Given the description of an element on the screen output the (x, y) to click on. 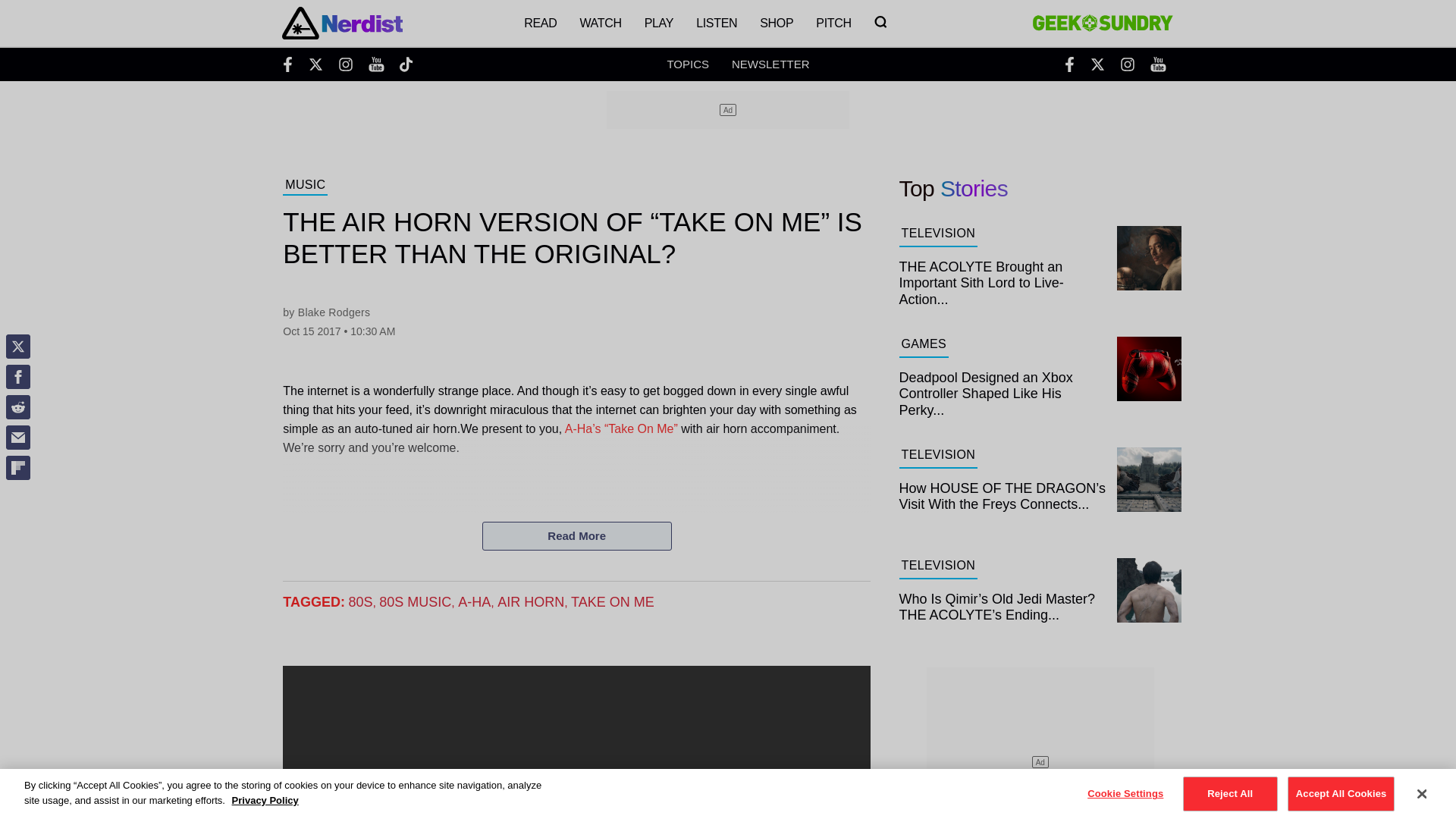
NEWSLETTER (770, 63)
SHOP (776, 22)
Instagram Nerdist (345, 63)
READ (539, 22)
A-HA (474, 601)
AIR HORN (530, 601)
Accept All Cookies (1340, 793)
PITCH (833, 22)
Reject All (1230, 793)
Cookie Settings (1125, 793)
LISTEN (716, 22)
Read More (576, 535)
80S (359, 601)
Topics (687, 63)
THE ACOLYTE Brought an Important Sith Lord to Live-Action... (1039, 279)
